Given the description of an element on the screen output the (x, y) to click on. 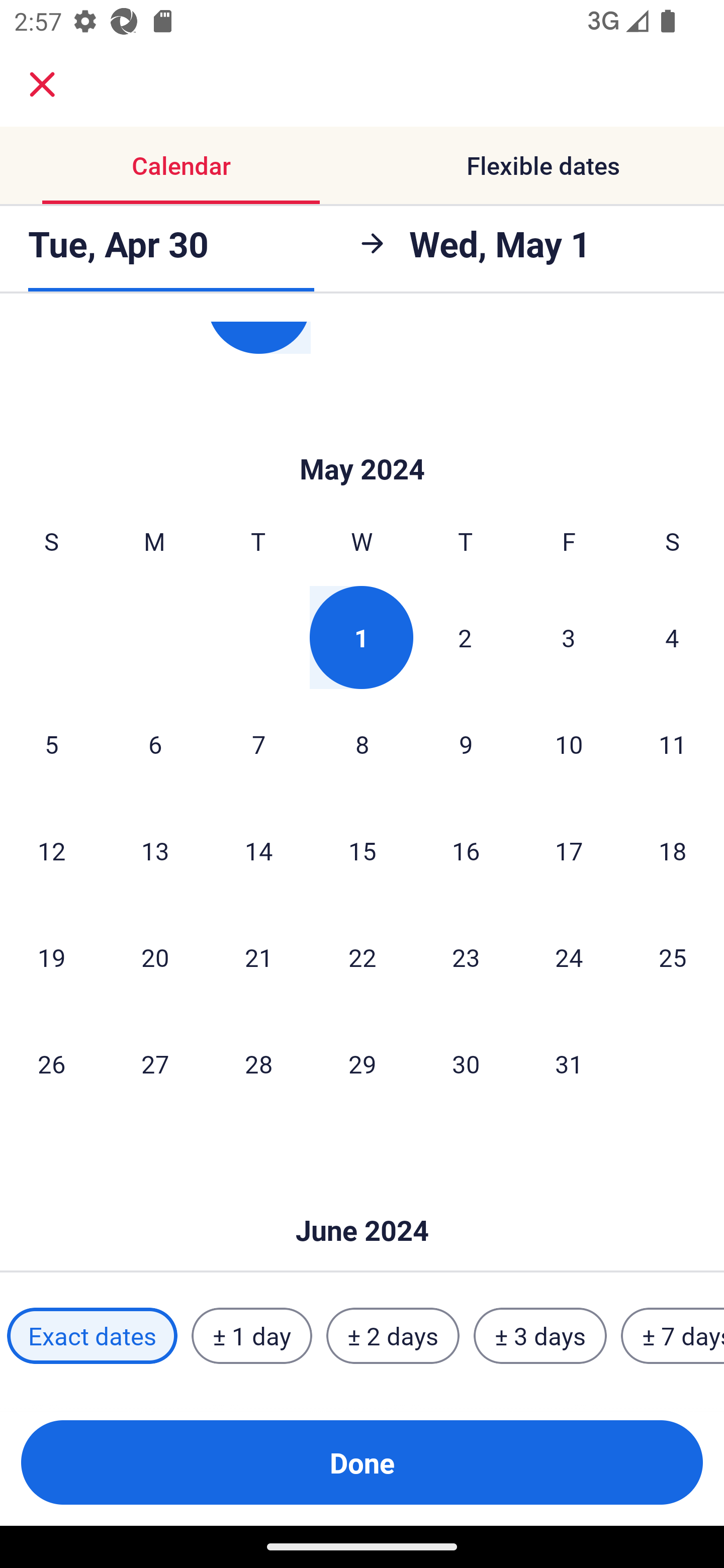
close. (42, 84)
Flexible dates (542, 164)
Skip to Done (362, 438)
2 Thursday, May 2, 2024 (464, 637)
3 Friday, May 3, 2024 (568, 637)
4 Saturday, May 4, 2024 (672, 637)
5 Sunday, May 5, 2024 (51, 743)
6 Monday, May 6, 2024 (155, 743)
7 Tuesday, May 7, 2024 (258, 743)
8 Wednesday, May 8, 2024 (362, 743)
9 Thursday, May 9, 2024 (465, 743)
10 Friday, May 10, 2024 (569, 743)
11 Saturday, May 11, 2024 (672, 743)
12 Sunday, May 12, 2024 (51, 850)
13 Monday, May 13, 2024 (155, 850)
14 Tuesday, May 14, 2024 (258, 850)
15 Wednesday, May 15, 2024 (362, 850)
16 Thursday, May 16, 2024 (465, 850)
17 Friday, May 17, 2024 (569, 850)
18 Saturday, May 18, 2024 (672, 850)
19 Sunday, May 19, 2024 (51, 957)
20 Monday, May 20, 2024 (155, 957)
21 Tuesday, May 21, 2024 (258, 957)
22 Wednesday, May 22, 2024 (362, 957)
23 Thursday, May 23, 2024 (465, 957)
24 Friday, May 24, 2024 (569, 957)
25 Saturday, May 25, 2024 (672, 957)
26 Sunday, May 26, 2024 (51, 1063)
27 Monday, May 27, 2024 (155, 1063)
28 Tuesday, May 28, 2024 (258, 1063)
29 Wednesday, May 29, 2024 (362, 1063)
30 Thursday, May 30, 2024 (465, 1063)
31 Friday, May 31, 2024 (569, 1063)
Skip to Done (362, 1200)
Exact dates (92, 1335)
± 1 day (251, 1335)
± 2 days (392, 1335)
± 3 days (539, 1335)
± 7 days (672, 1335)
Done (361, 1462)
